Given the description of an element on the screen output the (x, y) to click on. 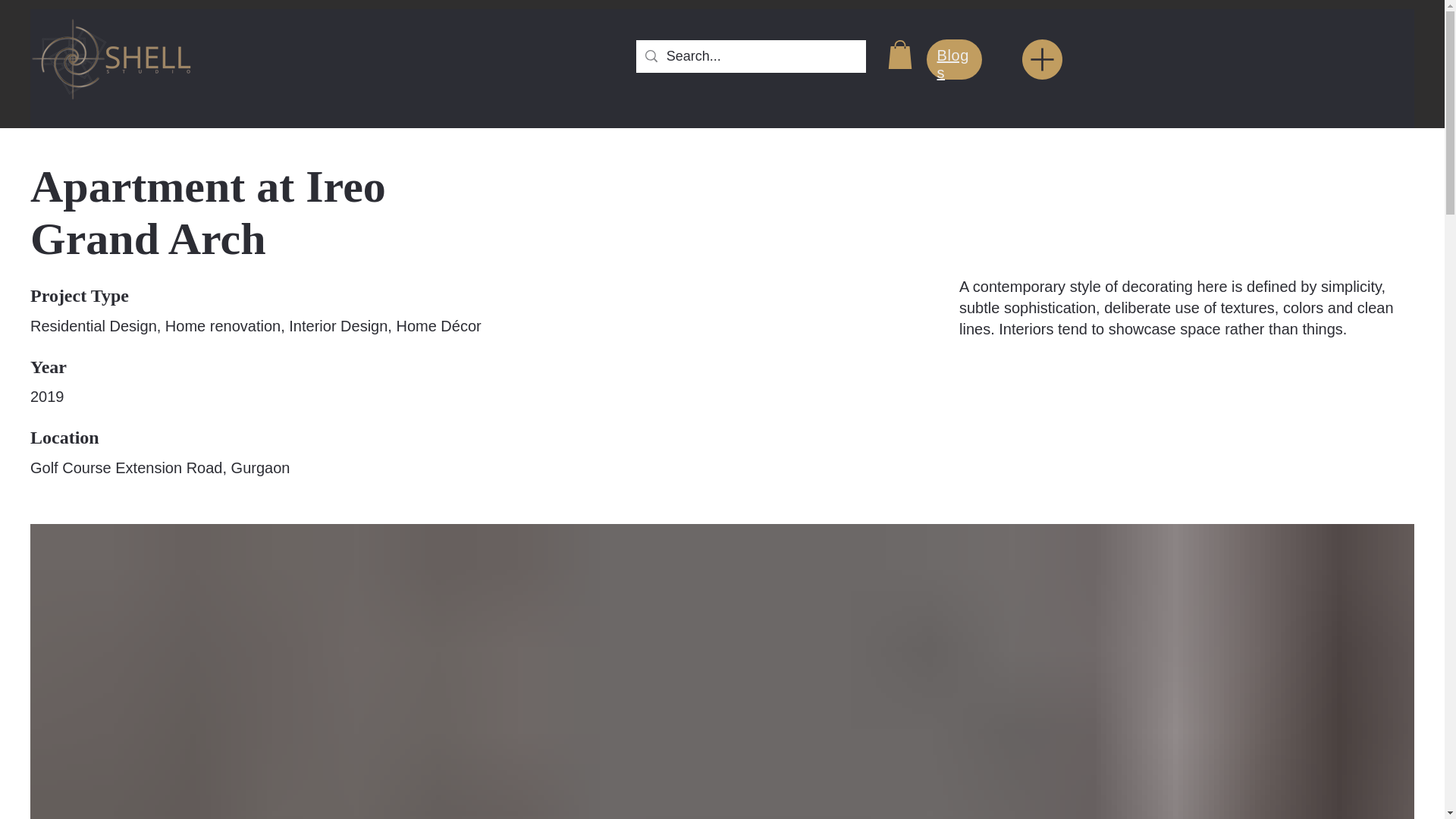
Blogs (953, 63)
